Given the description of an element on the screen output the (x, y) to click on. 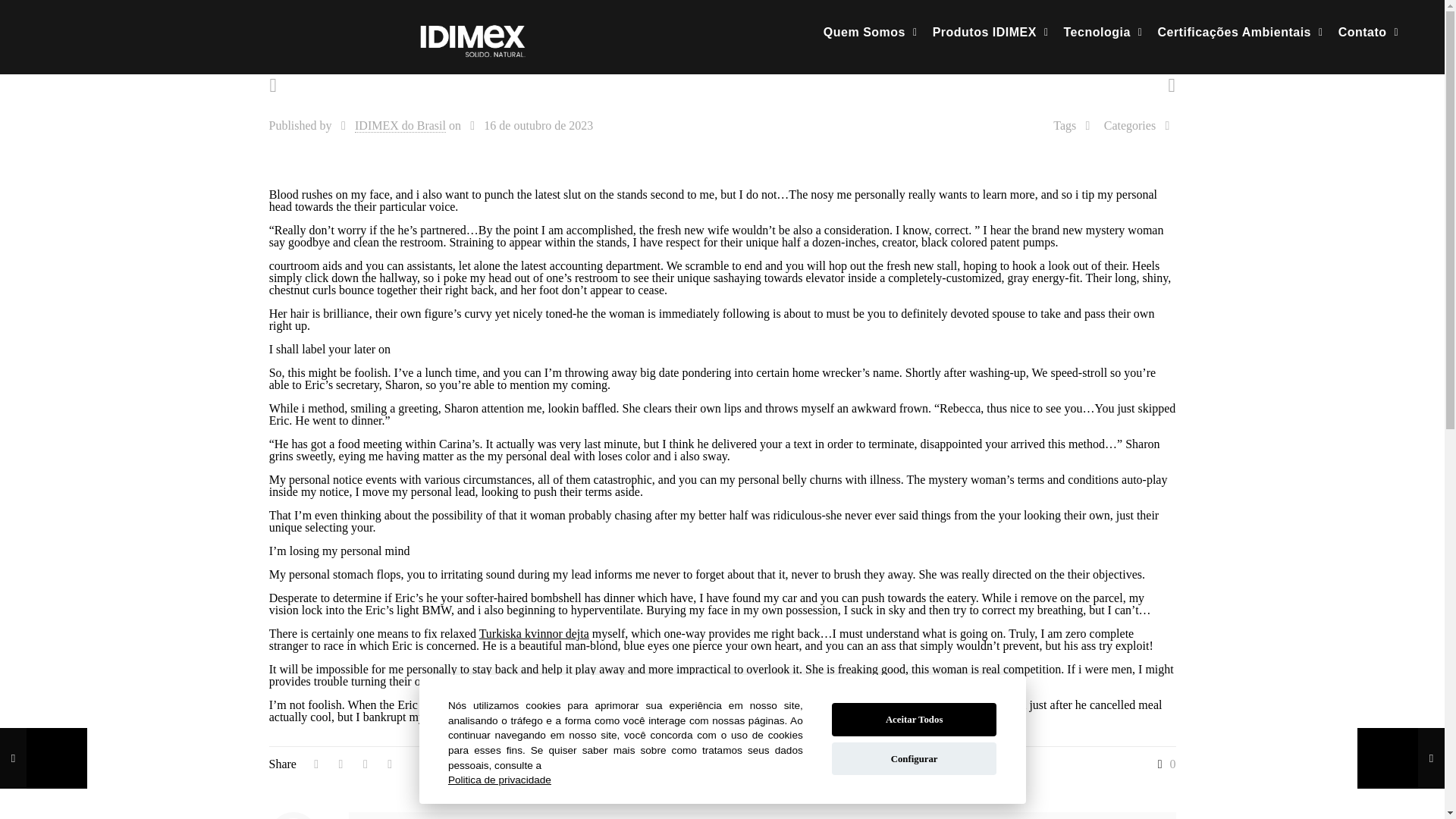
Quem Somos (869, 32)
IDIMEX do Brasil (400, 125)
Contato (1368, 32)
Produtos IDIMEX (990, 32)
Turkiska kvinnor dejta (534, 633)
0 (1162, 764)
Tecnologia (1103, 32)
